Given the description of an element on the screen output the (x, y) to click on. 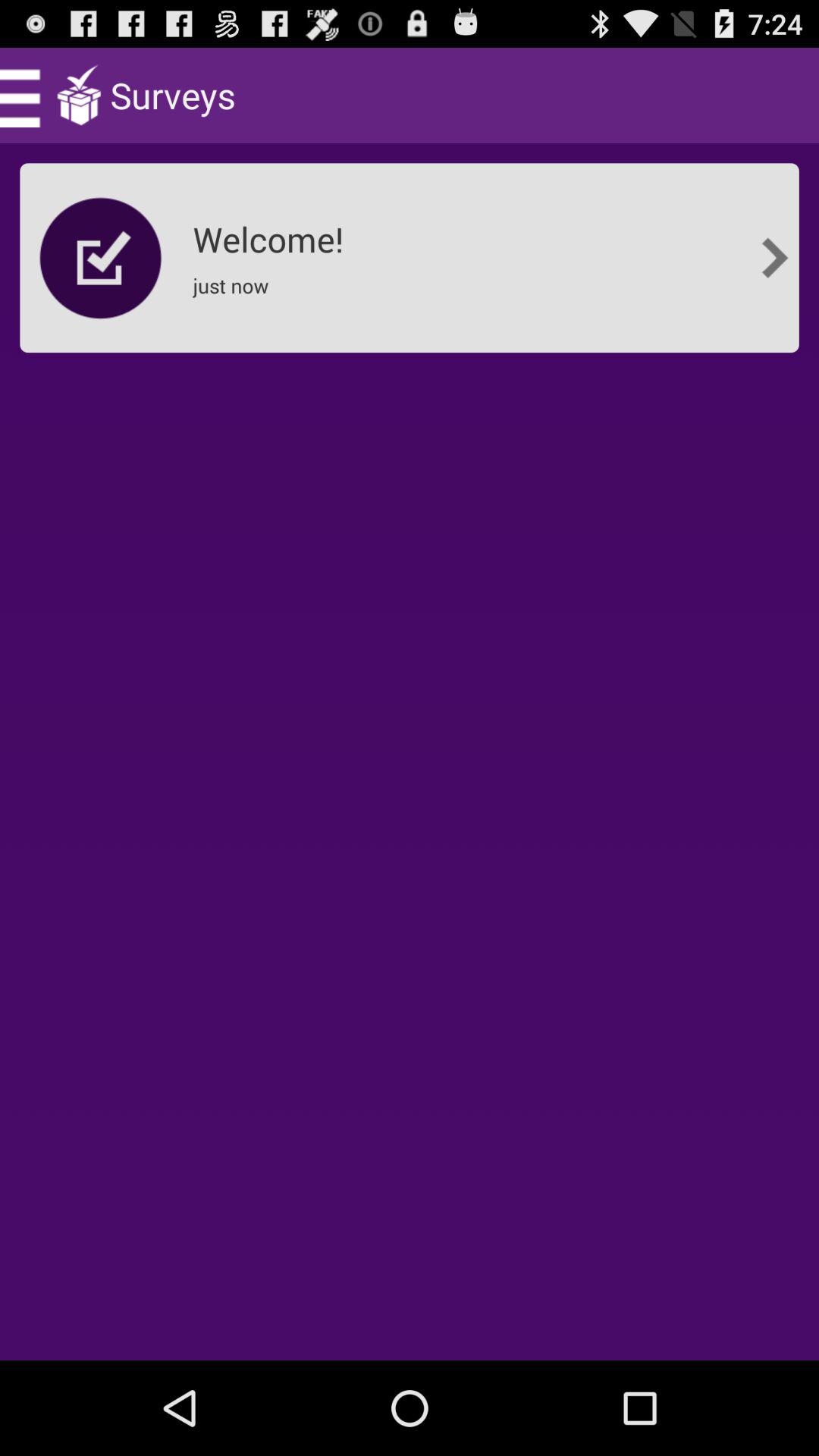
click item next to the welcome! (100, 257)
